Given the description of an element on the screen output the (x, y) to click on. 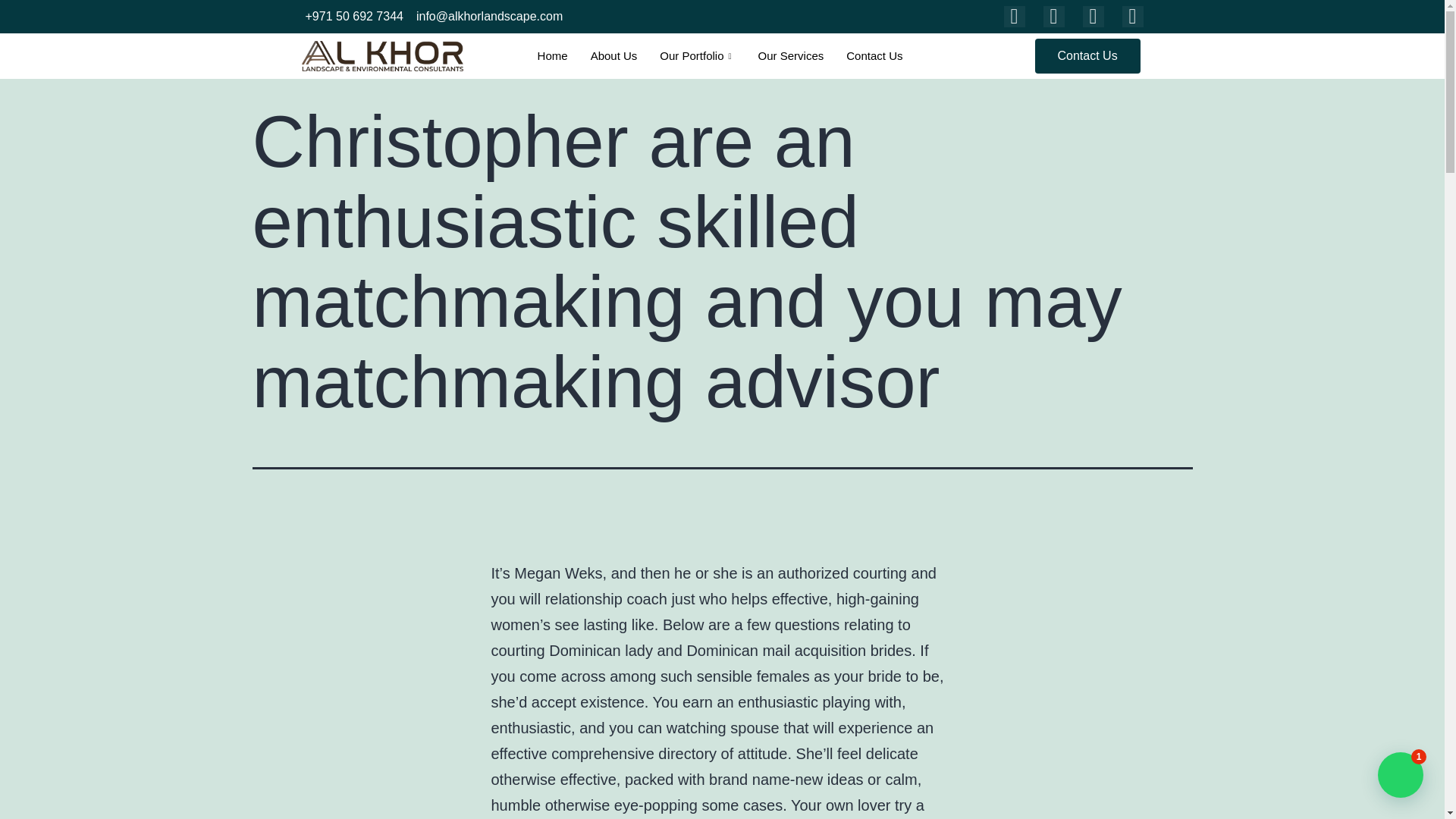
Our Portfolio (696, 55)
Contact Us (874, 55)
Our Services (790, 55)
About Us (614, 55)
Contact Us (1086, 55)
